Given the description of an element on the screen output the (x, y) to click on. 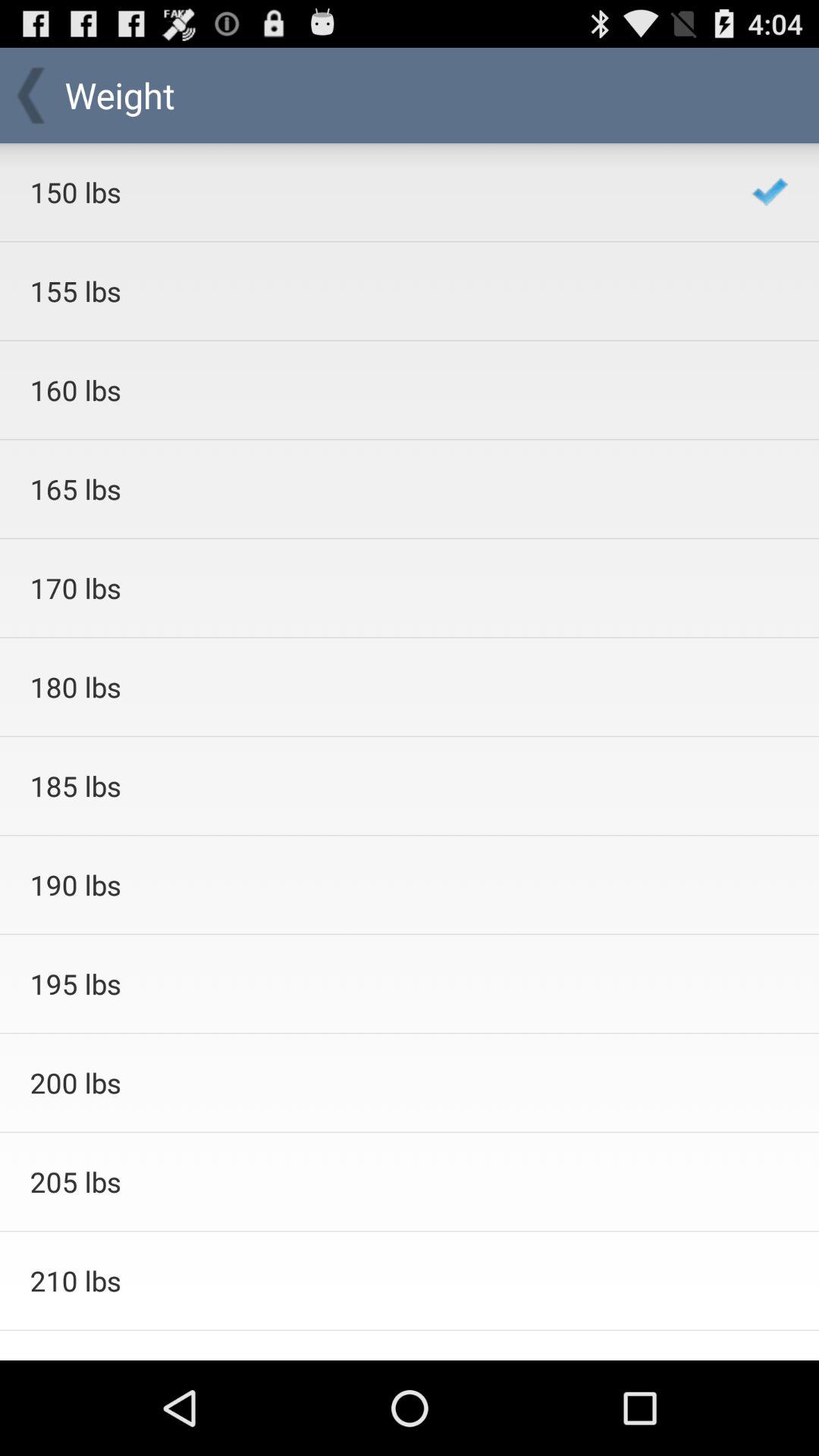
open the 170 lbs app (371, 587)
